Given the description of an element on the screen output the (x, y) to click on. 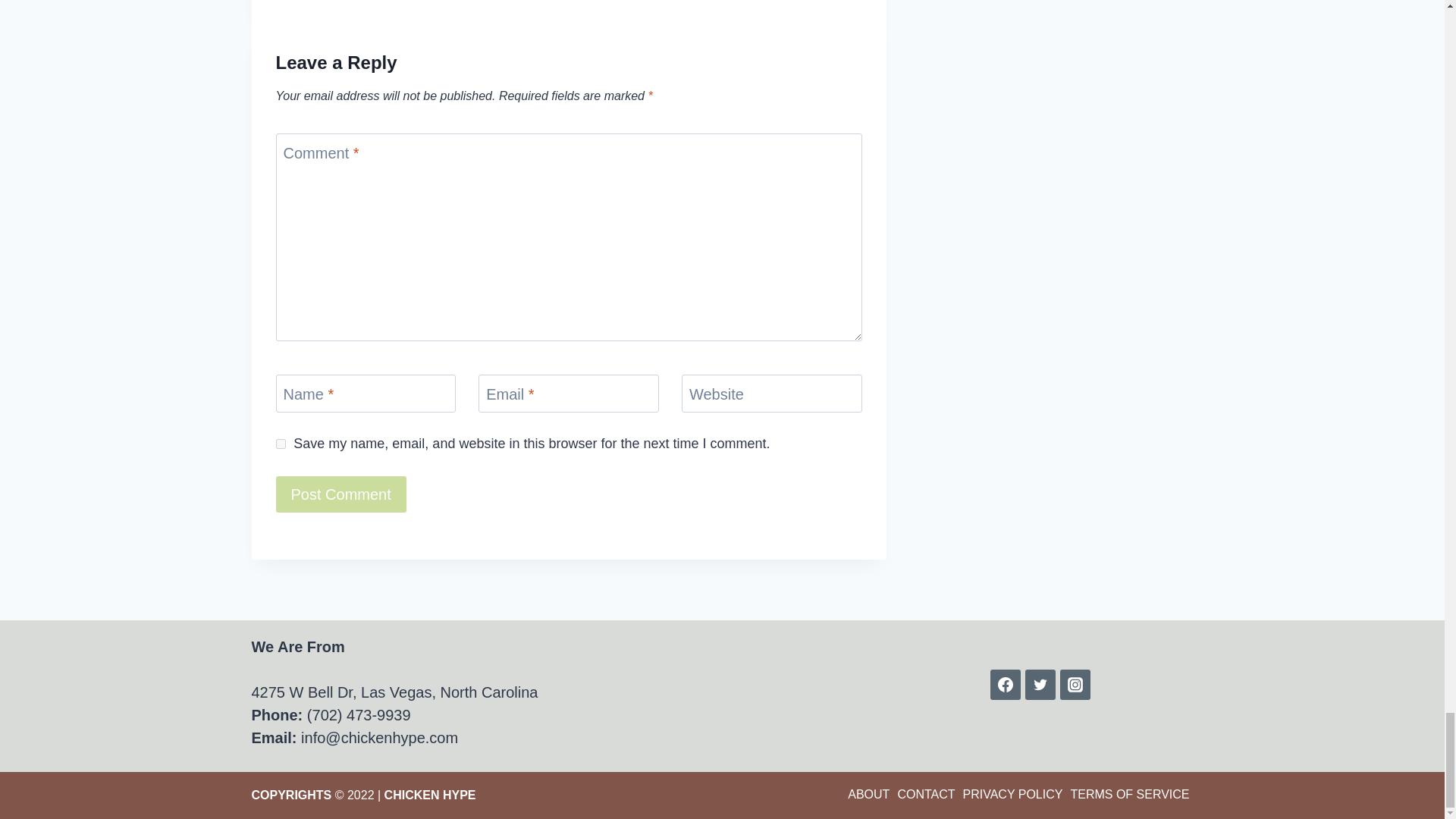
Post Comment (341, 493)
yes (280, 443)
Post Comment (341, 493)
